Given the description of an element on the screen output the (x, y) to click on. 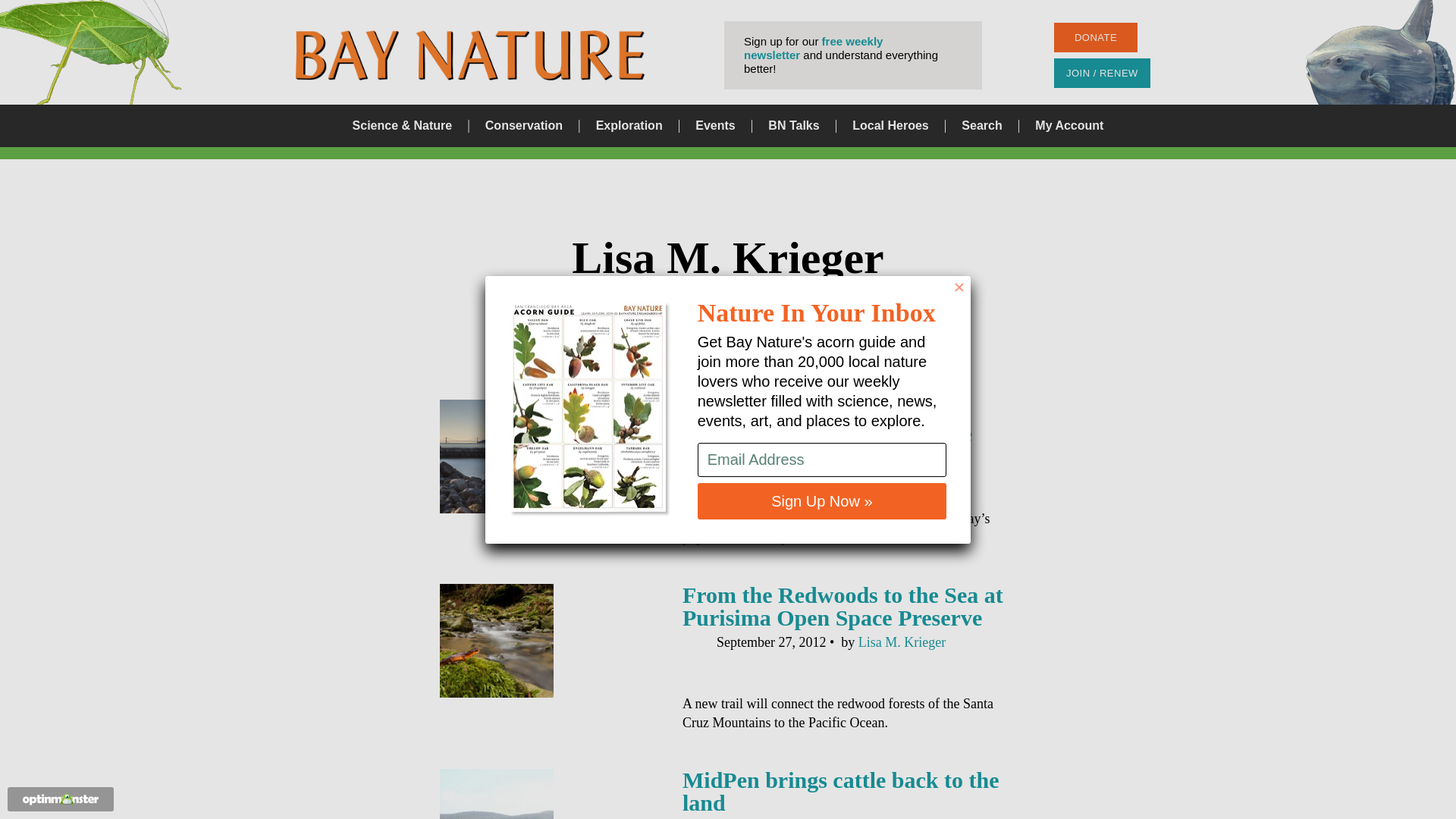
BN Talks (793, 125)
How the East Bay Shoreline Became A Park for the People (827, 421)
Lisa M. Krieger (901, 642)
My Account (1069, 125)
Local Heroes (889, 125)
Powered by OptinMonster (61, 799)
Search (885, 409)
Close (959, 286)
From the Redwoods to the Sea at Purisima Open Space Preserve (842, 605)
MidPen brings cattle back to the land (840, 790)
Search (980, 125)
Posts by Lisa M. Krieger (901, 642)
free weekly newsletter (813, 48)
Lisa M. Krieger (879, 458)
Bay Nature (470, 54)
